Given the description of an element on the screen output the (x, y) to click on. 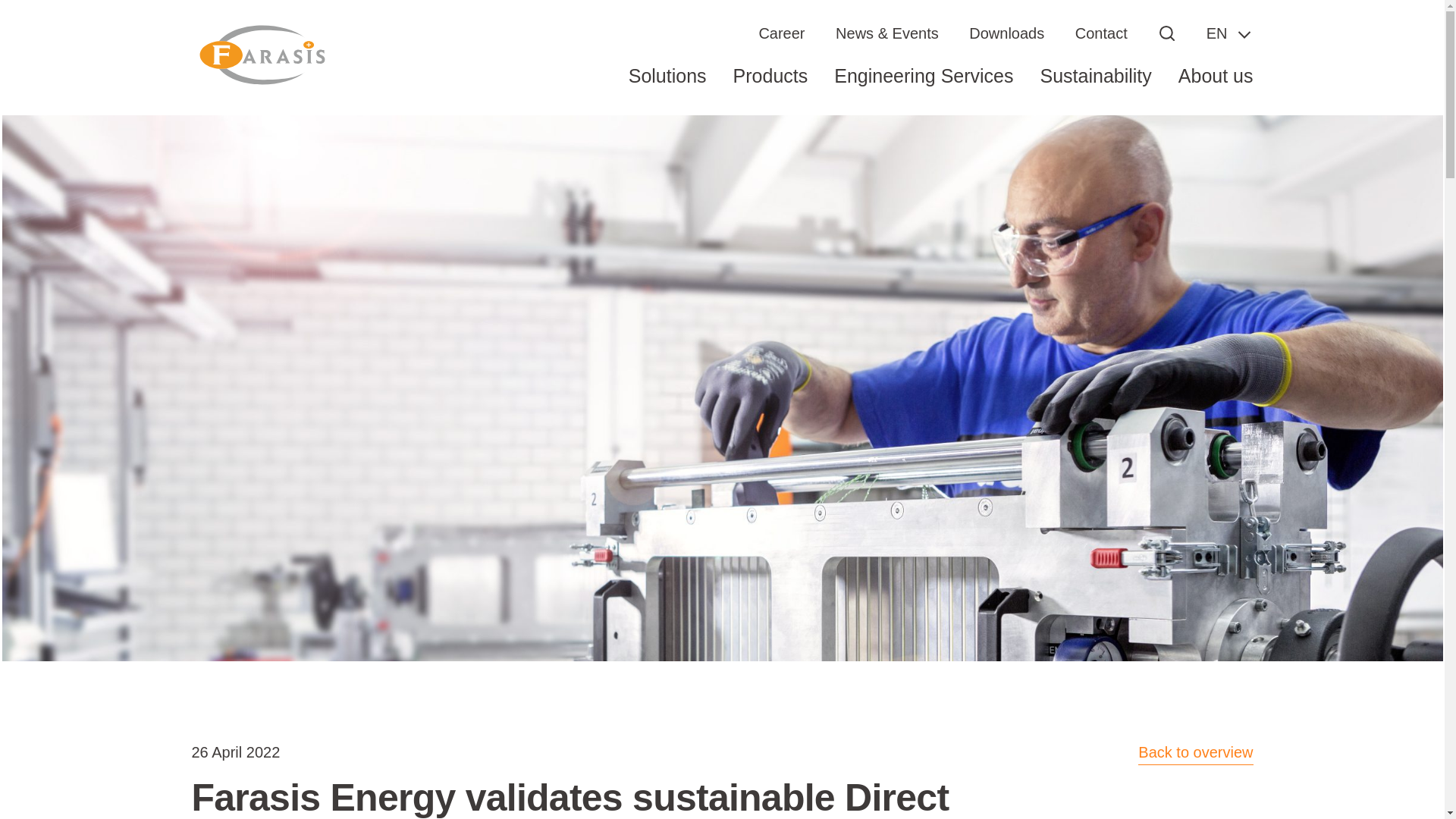
Contact (1100, 33)
Downloads (1006, 33)
About us (1215, 87)
Sustainability (1096, 87)
Engineering Services (923, 87)
Solutions (667, 87)
Products (770, 87)
Career (781, 33)
Back to overview (1195, 752)
Farasis Energy (260, 56)
